Given the description of an element on the screen output the (x, y) to click on. 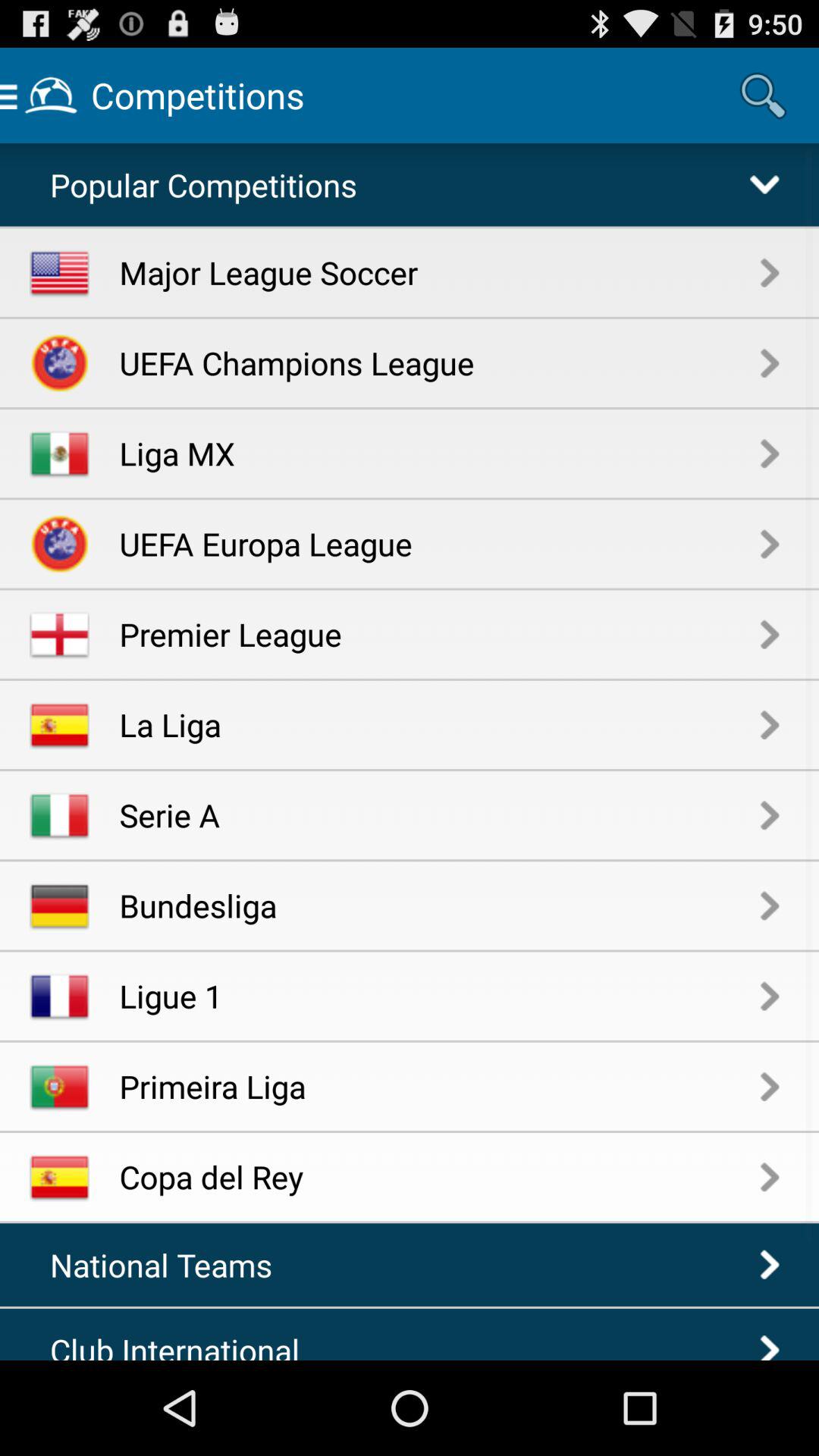
choose the club international    item (186, 1344)
